Given the description of an element on the screen output the (x, y) to click on. 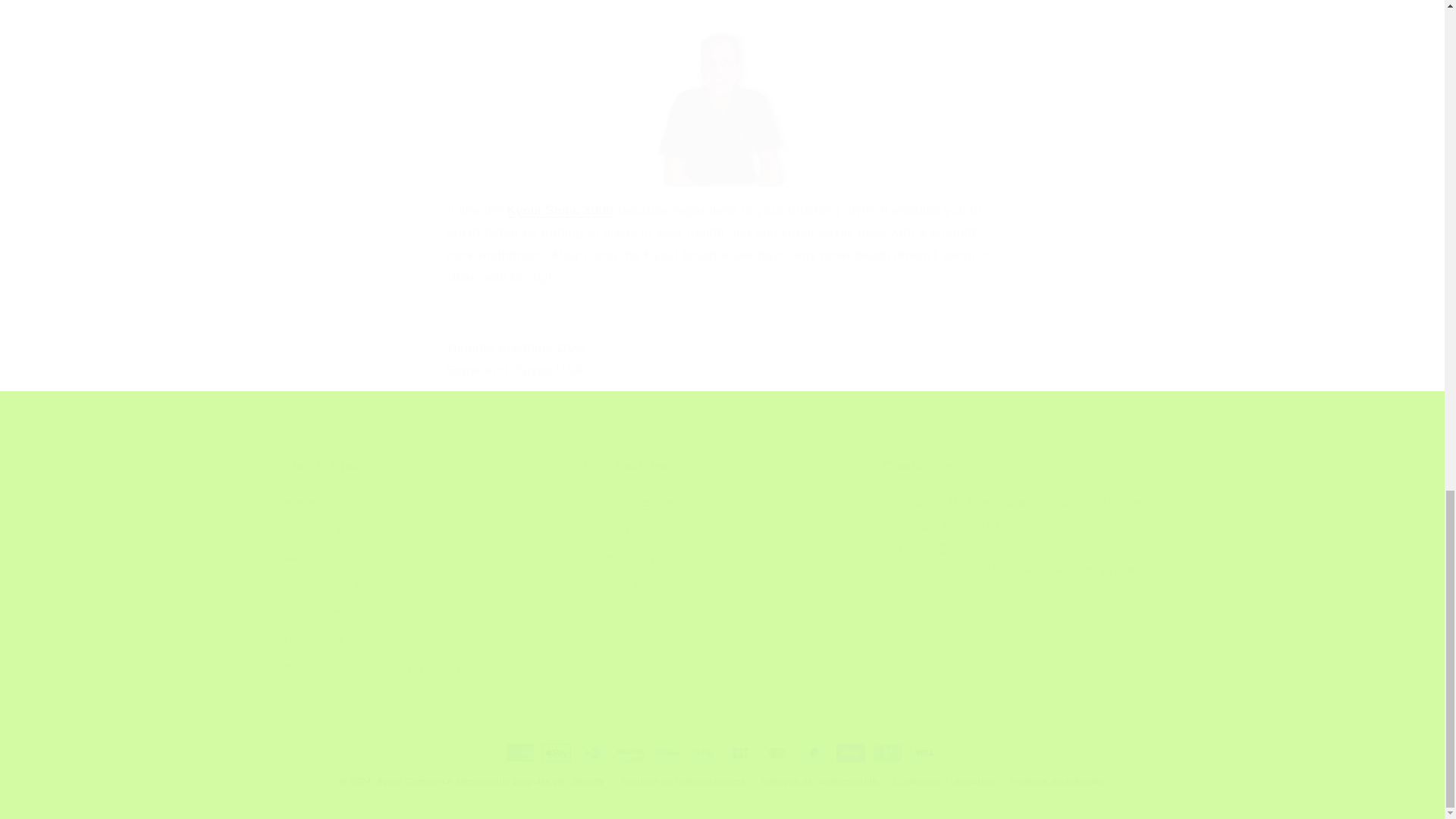
Do not sell my personal information (379, 641)
Partner With Us (326, 585)
Kyoui (390, 780)
Warranty Registration (342, 530)
Kyoui Sonic 3000 (560, 210)
FAQs (298, 558)
Warranty Claim (324, 504)
Affiliate Program (328, 614)
Buy the Kiwi sonic 3000 toothbrush system (560, 210)
Return Policy (619, 558)
